Given the description of an element on the screen output the (x, y) to click on. 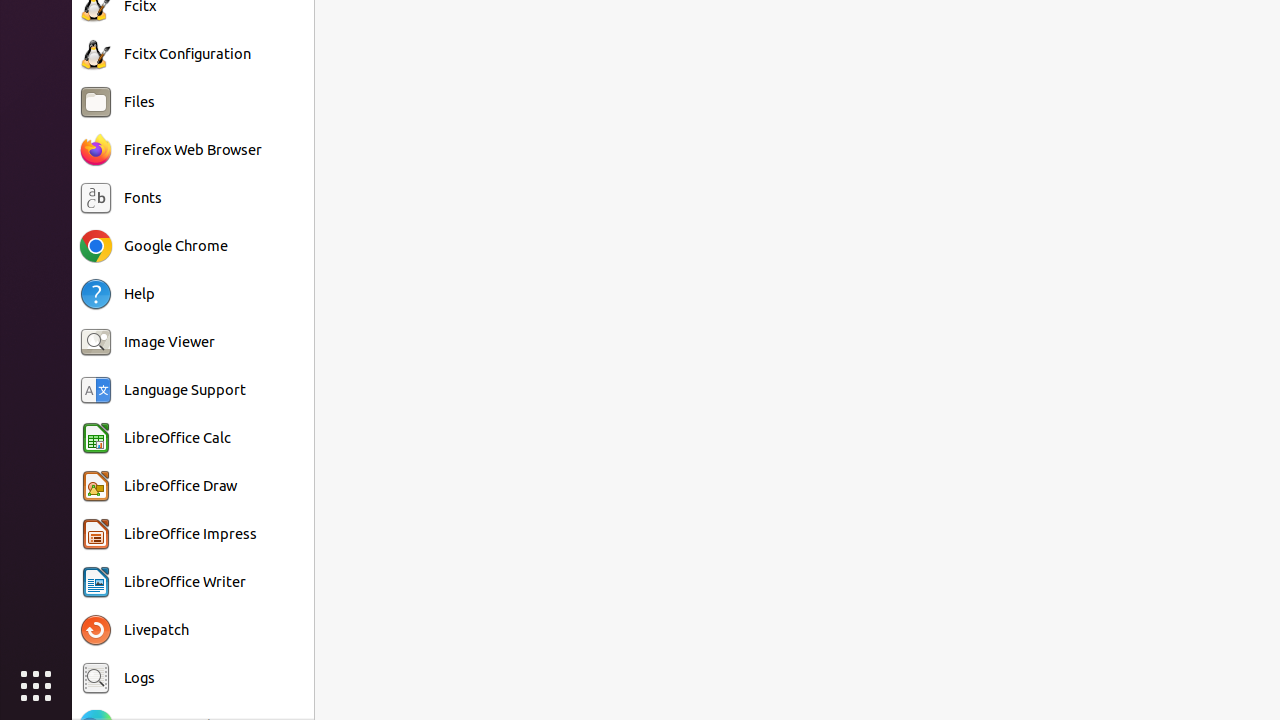
Logs Element type: label (139, 678)
Language Support Element type: label (185, 390)
Livepatch Element type: label (156, 630)
LibreOffice Calc Element type: label (177, 438)
